Given the description of an element on the screen output the (x, y) to click on. 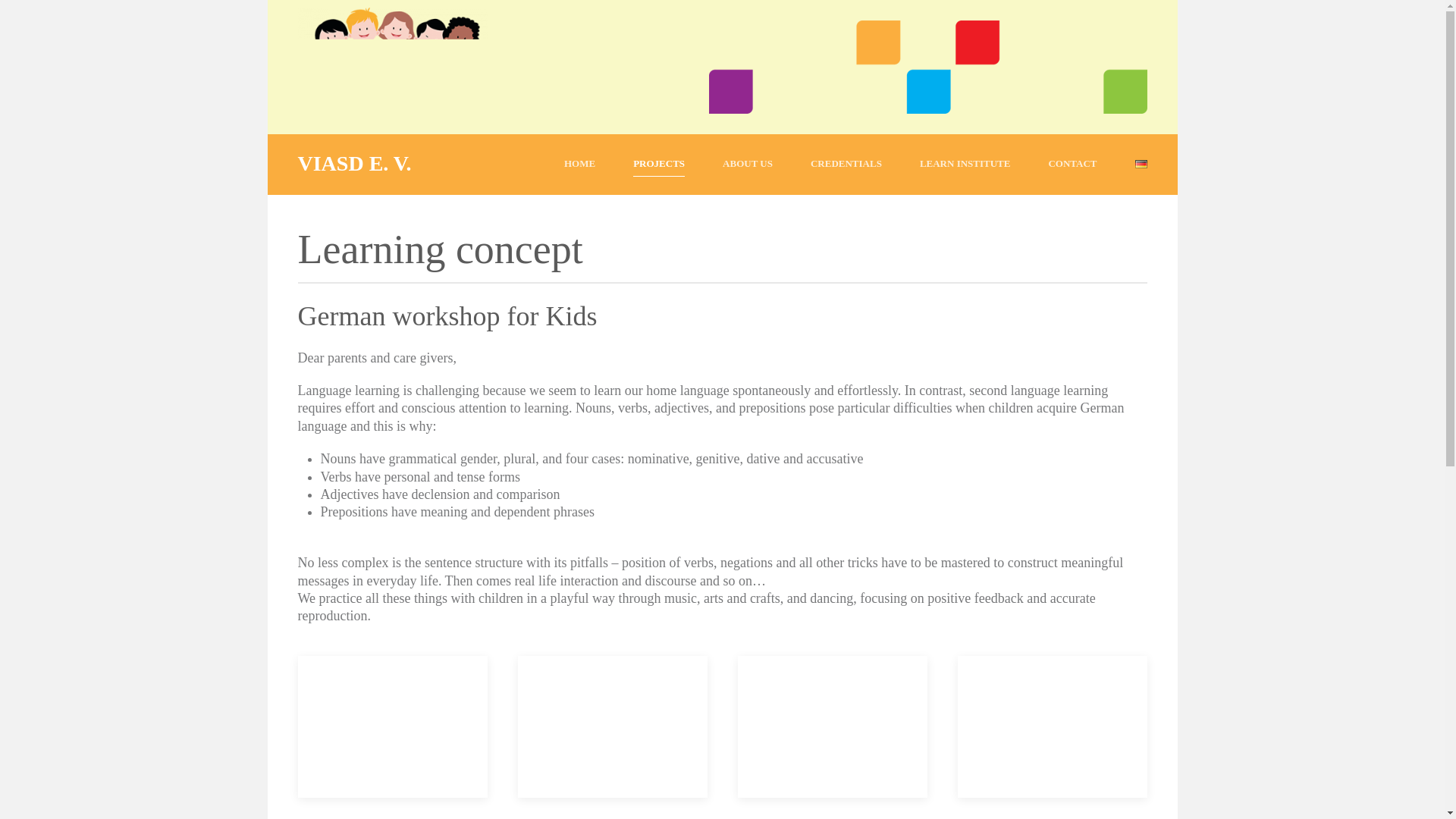
VIASD E. V. (354, 164)
CREDENTIALS (846, 164)
CONTACT (1072, 164)
PROJECTS (658, 164)
HOME (579, 164)
ABOUT US (747, 164)
LEARN INSTITUTE (965, 164)
